Given the description of an element on the screen output the (x, y) to click on. 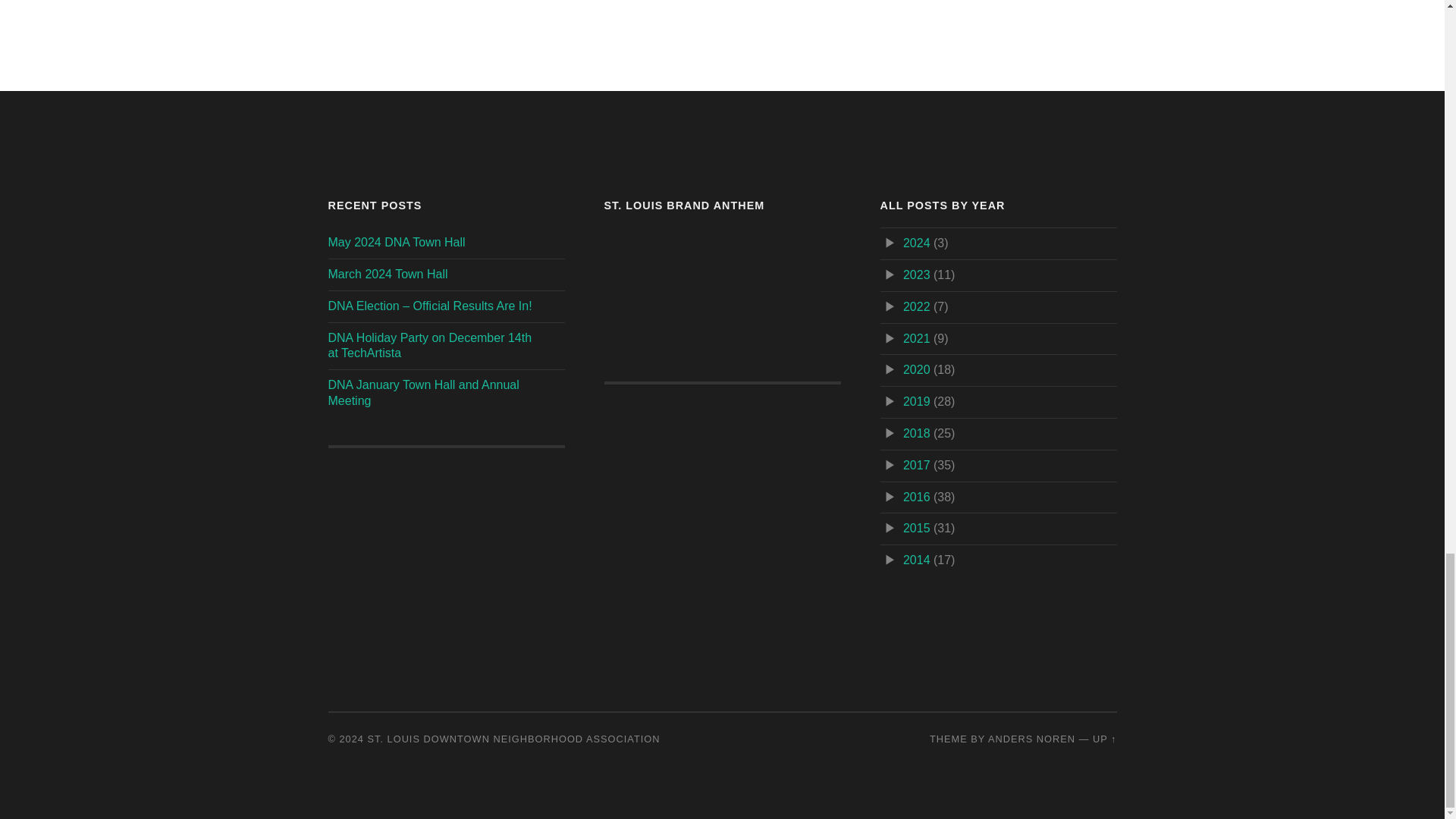
To the top (1104, 738)
